Given the description of an element on the screen output the (x, y) to click on. 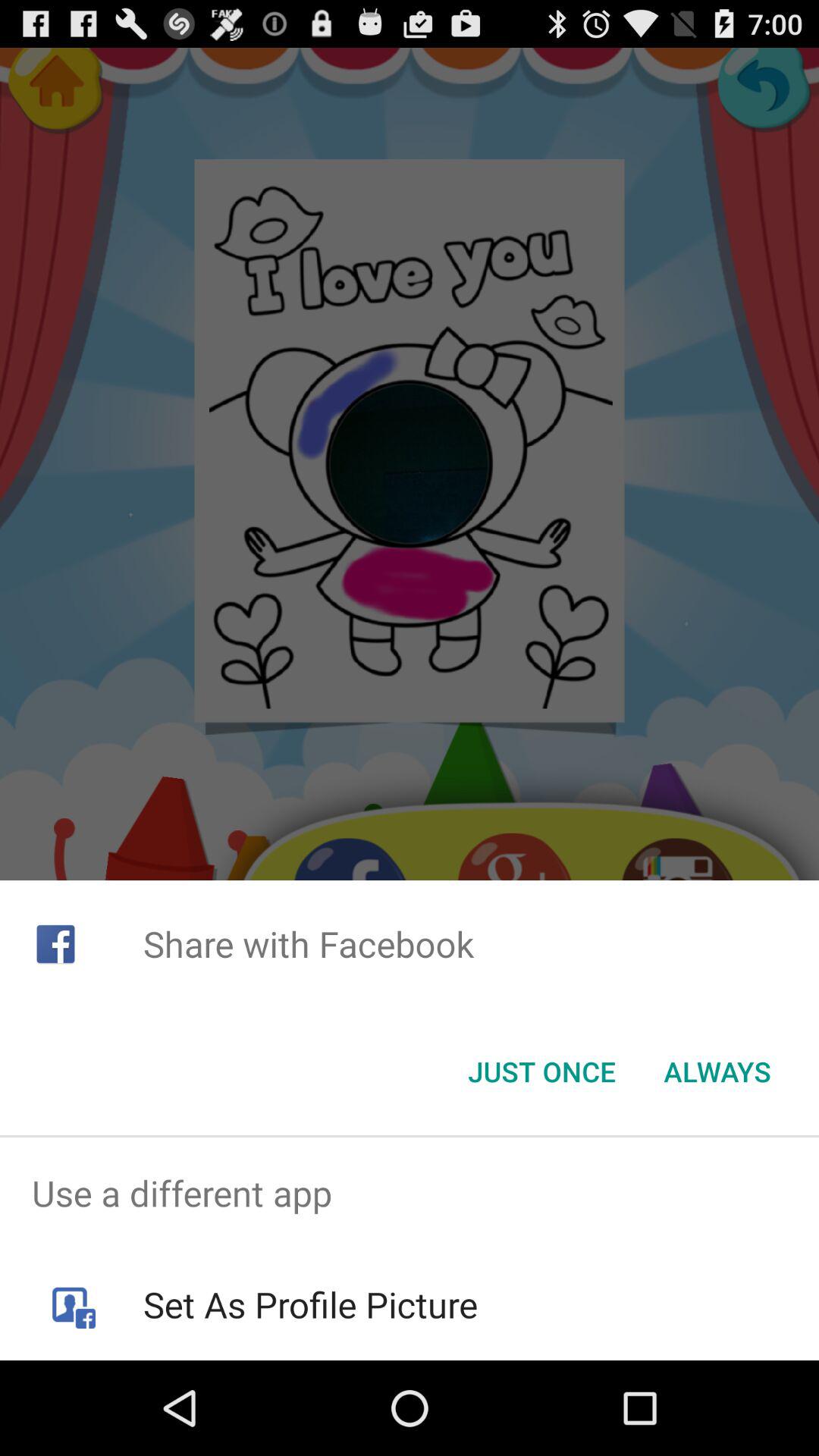
press item next to just once item (717, 1071)
